Given the description of an element on the screen output the (x, y) to click on. 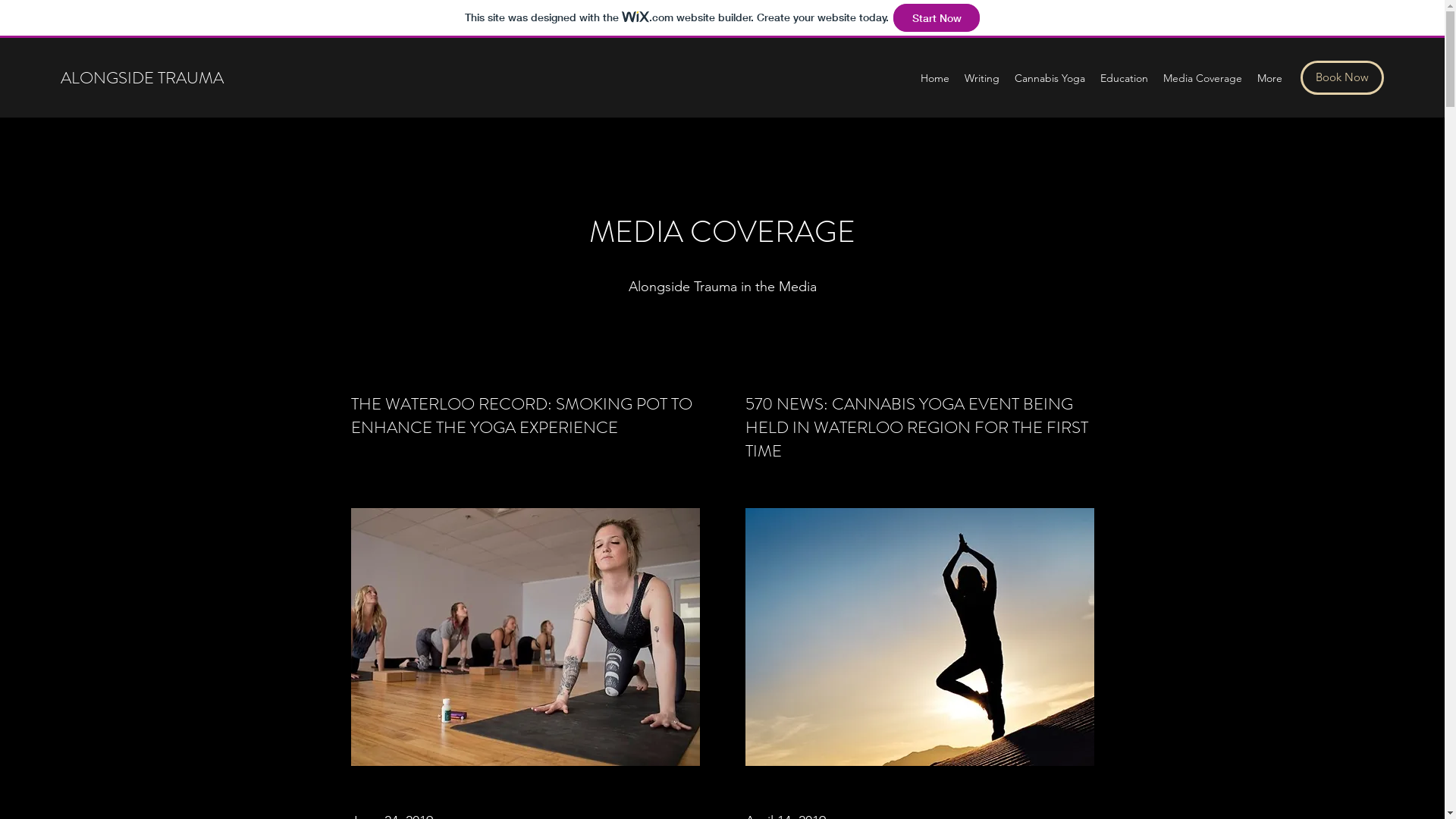
ALONGSIDE TRAUMA Element type: text (141, 77)
Cannabis Yoga Element type: text (1049, 77)
Writing Element type: text (982, 77)
Home Element type: text (935, 77)
Book Now Element type: text (1341, 77)
Media Coverage Element type: text (1202, 77)
Education Element type: text (1123, 77)
